Given the description of an element on the screen output the (x, y) to click on. 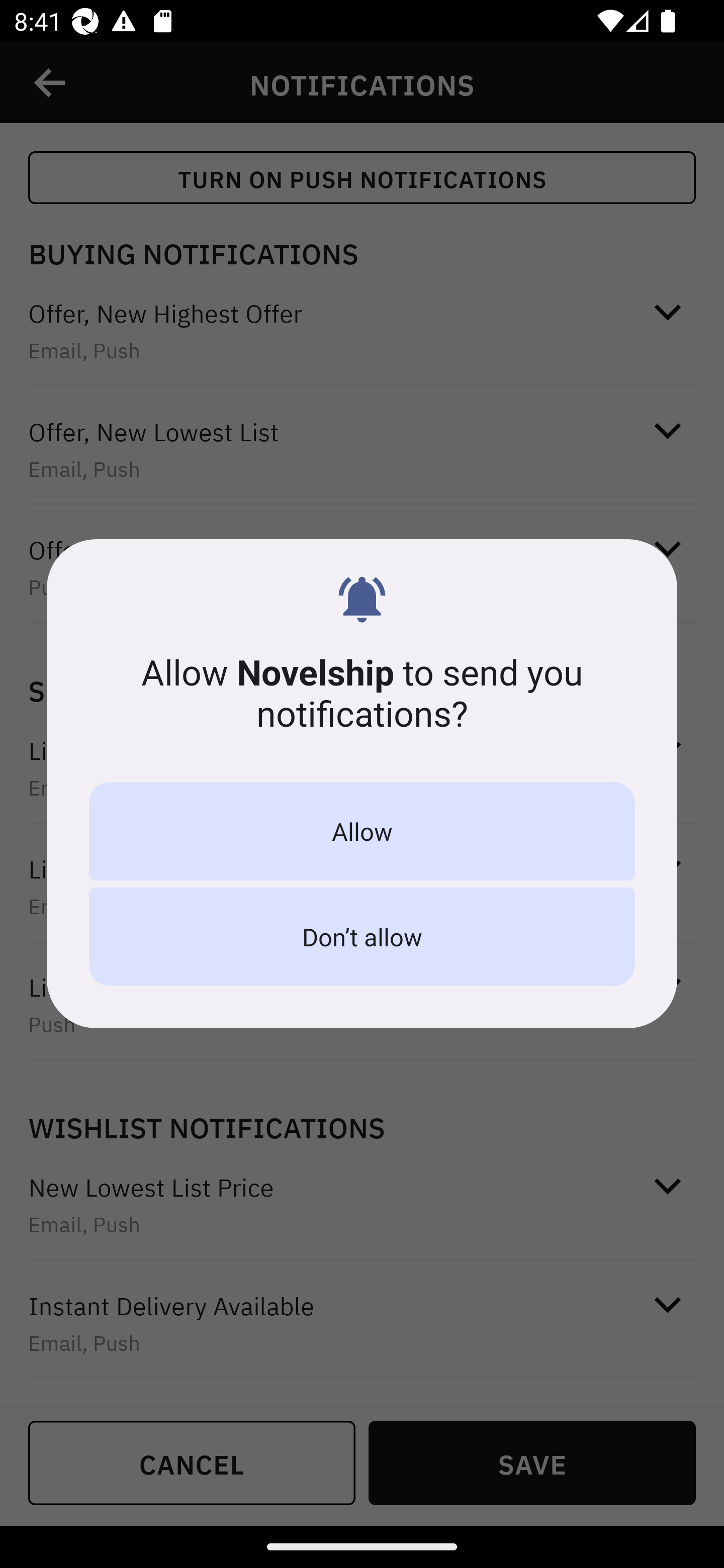
Allow (361, 831)
Don’t allow (361, 936)
